Given the description of an element on the screen output the (x, y) to click on. 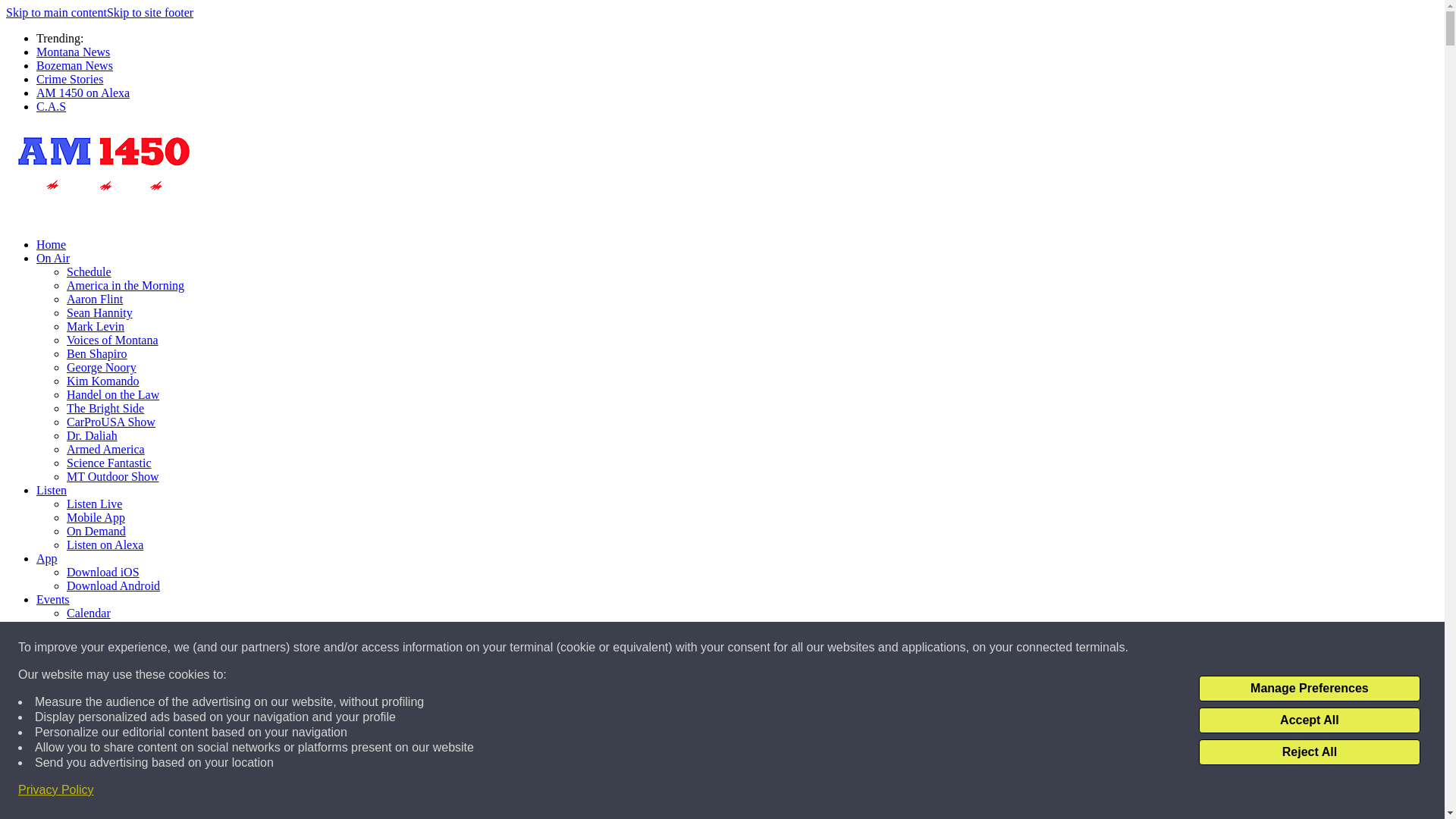
Aaron Flint (94, 298)
The Bright Side (105, 408)
CarProUSA Show (110, 421)
Skip to main content (55, 11)
Listen on Alexa (104, 544)
Ben Shapiro (97, 353)
George Noory (101, 367)
On Demand (95, 530)
AM 1450 on Alexa (82, 92)
Manage Preferences (1309, 688)
Skip to site footer (149, 11)
On Air (52, 257)
America in the Morning (125, 285)
Crime Stories (69, 78)
C.A.S (50, 106)
